Given the description of an element on the screen output the (x, y) to click on. 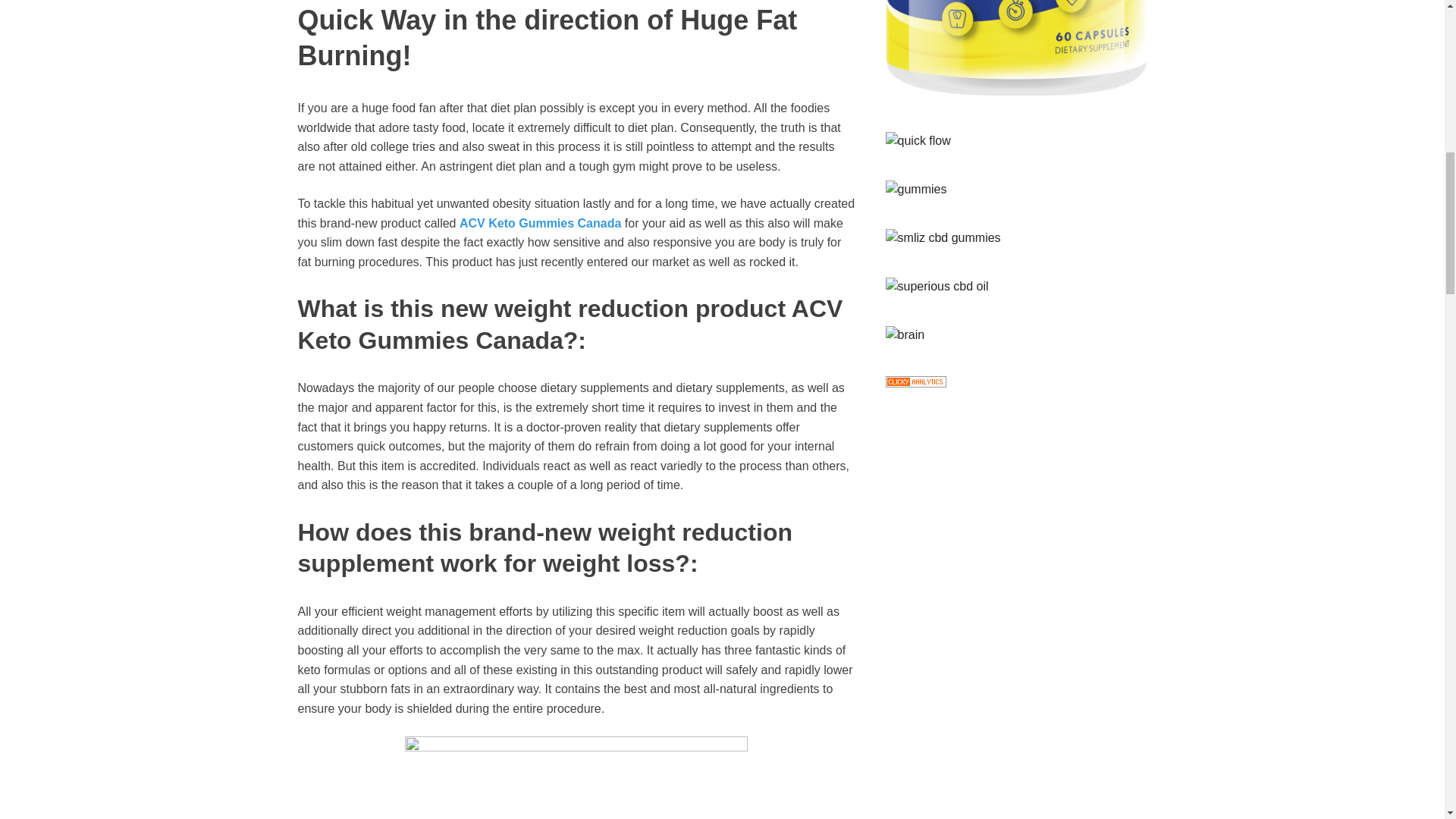
ACV Keto Gummies Canada (540, 223)
Privacy-friendly Web Analytics (915, 382)
